Given the description of an element on the screen output the (x, y) to click on. 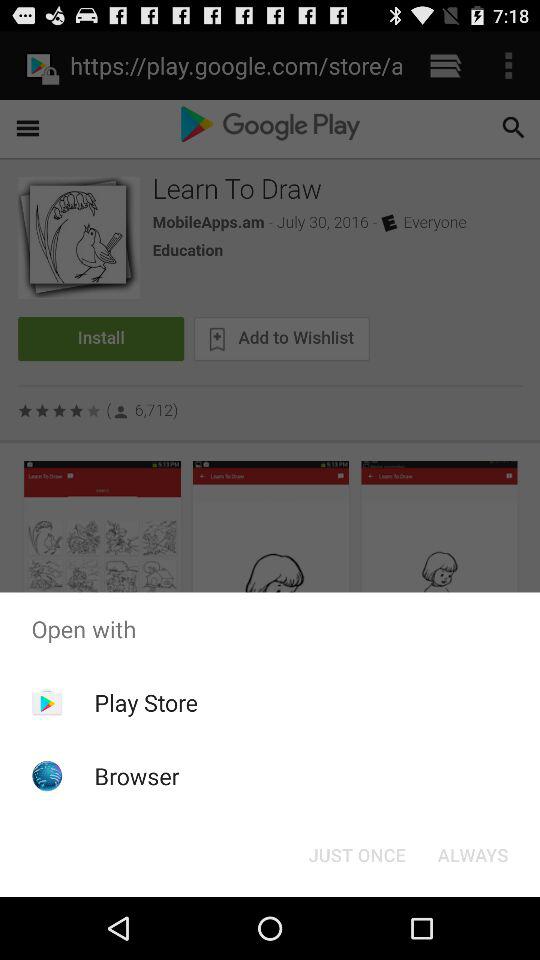
click the item at the bottom (356, 854)
